Given the description of an element on the screen output the (x, y) to click on. 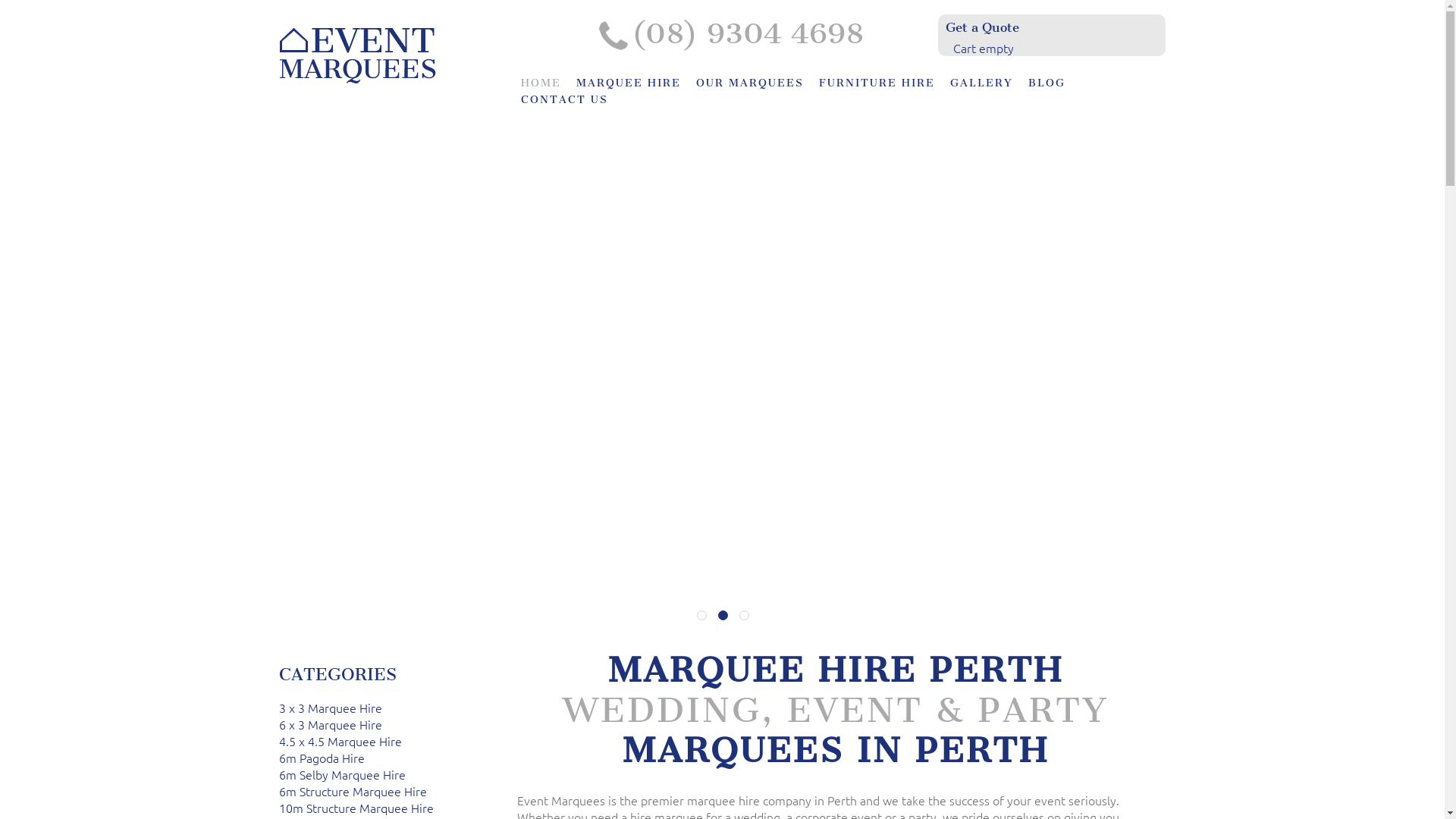
HOME Element type: text (535, 83)
CONTACT US Element type: text (558, 99)
OUR MARQUEES Element type: text (743, 83)
6m Pagoda Hire Element type: text (321, 757)
10m Structure Marquee Hire Element type: text (356, 807)
MARQUEE HIRE Element type: text (622, 83)
6 x 3 Marquee Hire Element type: text (330, 723)
4.5 x 4.5 Marquee Hire Element type: text (340, 740)
GALLERY Element type: text (975, 83)
FURNITURE HIRE Element type: text (871, 83)
BLOG Element type: text (1040, 83)
6m Structure Marquee Hire Element type: text (352, 790)
6m Selby Marquee Hire Element type: text (342, 773)
3 x 3 Marquee Hire Element type: text (330, 707)
